Given the description of an element on the screen output the (x, y) to click on. 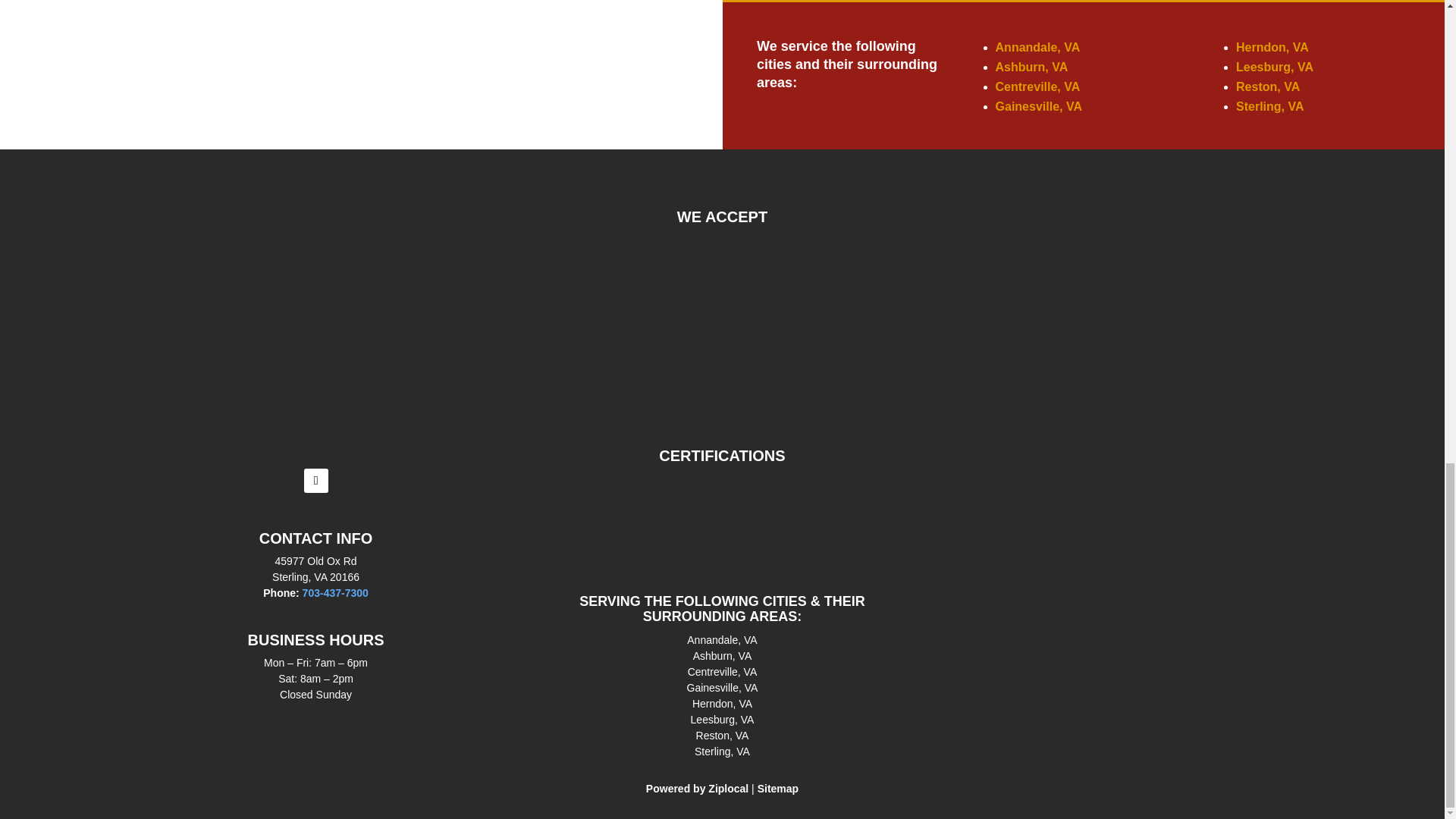
Annandale, VA (1037, 47)
Gainesville, VA (1038, 106)
Follow on Facebook (316, 480)
Ashburn, VA (1031, 66)
Centreville, VA (1037, 86)
